Given the description of an element on the screen output the (x, y) to click on. 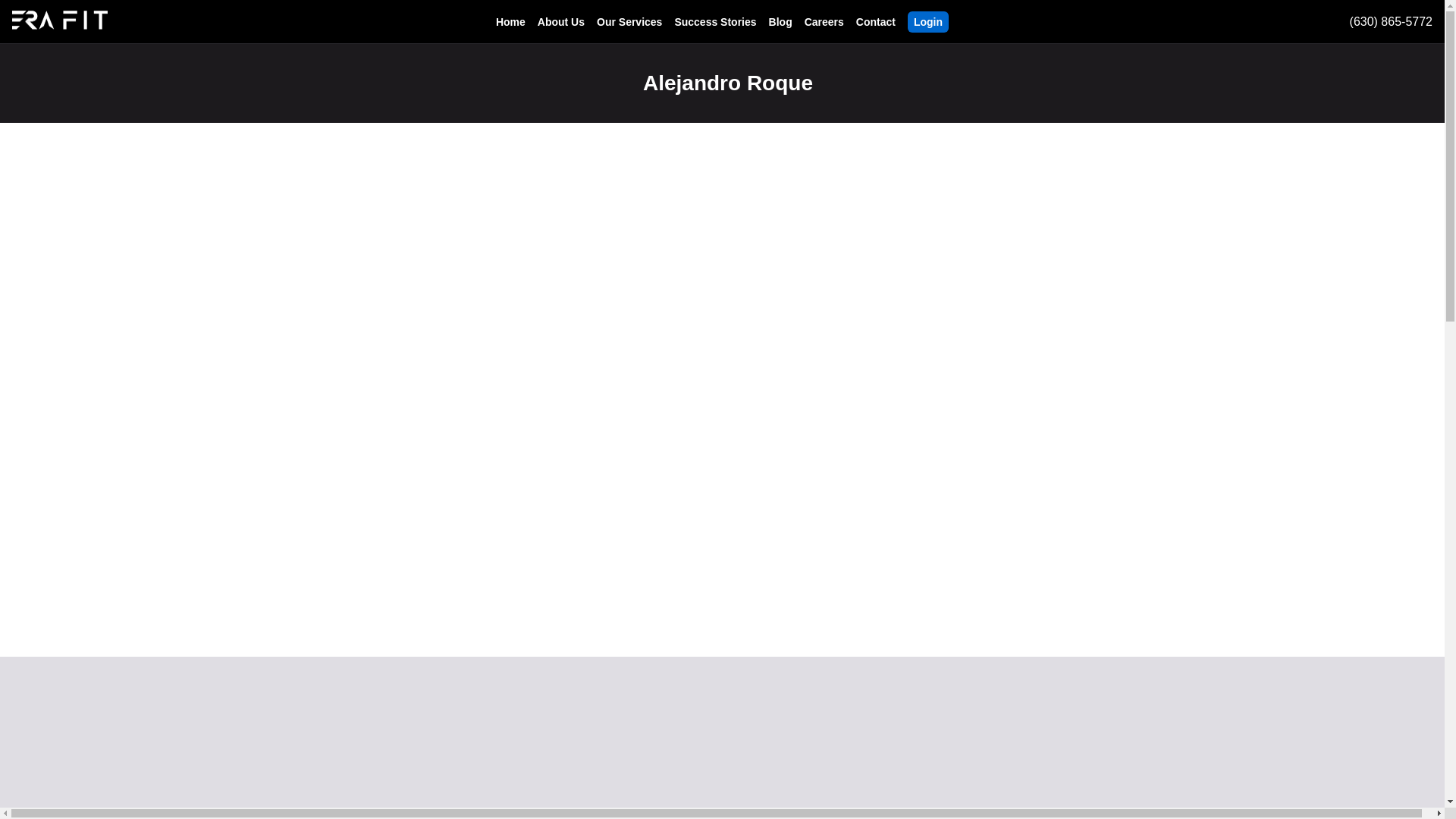
Phone Number (1382, 20)
Our Services (629, 21)
Our Services (629, 21)
ERA Fit (928, 20)
Careers (824, 21)
Contact (875, 21)
Contact (875, 21)
Home (510, 21)
Careers (824, 21)
Login (928, 20)
About Us (561, 21)
Success Stories (714, 21)
Home (510, 21)
Blog (780, 21)
Careers (714, 21)
